Given the description of an element on the screen output the (x, y) to click on. 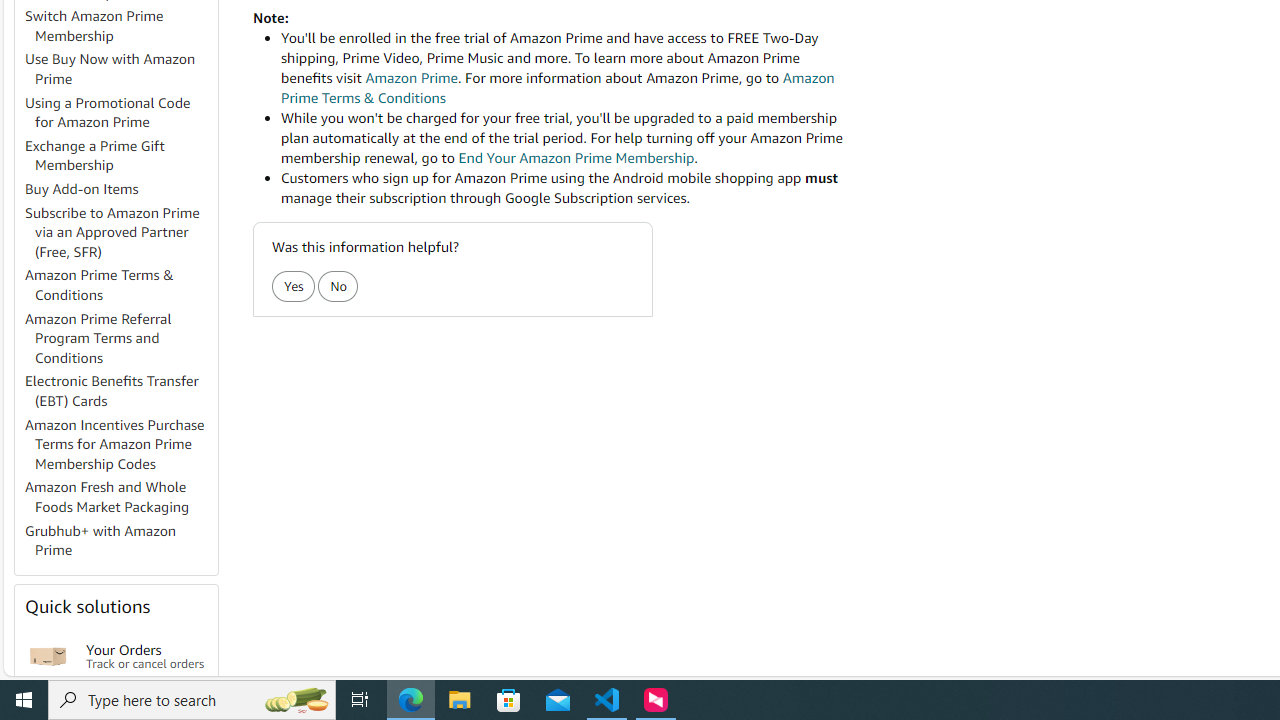
Electronic Benefits Transfer (EBT) Cards (120, 391)
Grubhub+ with Amazon Prime (120, 540)
Buy Add-on Items (82, 189)
Yes (292, 286)
Grubhub+ with Amazon Prime (100, 540)
Switch Amazon Prime Membership (120, 26)
Exchange a Prime Gift Membership (120, 156)
Your Orders Track or cancel orders (145, 656)
Using a Promotional Code for Amazon Prime (107, 111)
Electronic Benefits Transfer (EBT) Cards (111, 390)
Use Buy Now with Amazon Prime (120, 69)
Use Buy Now with Amazon Prime (110, 69)
